Given the description of an element on the screen output the (x, y) to click on. 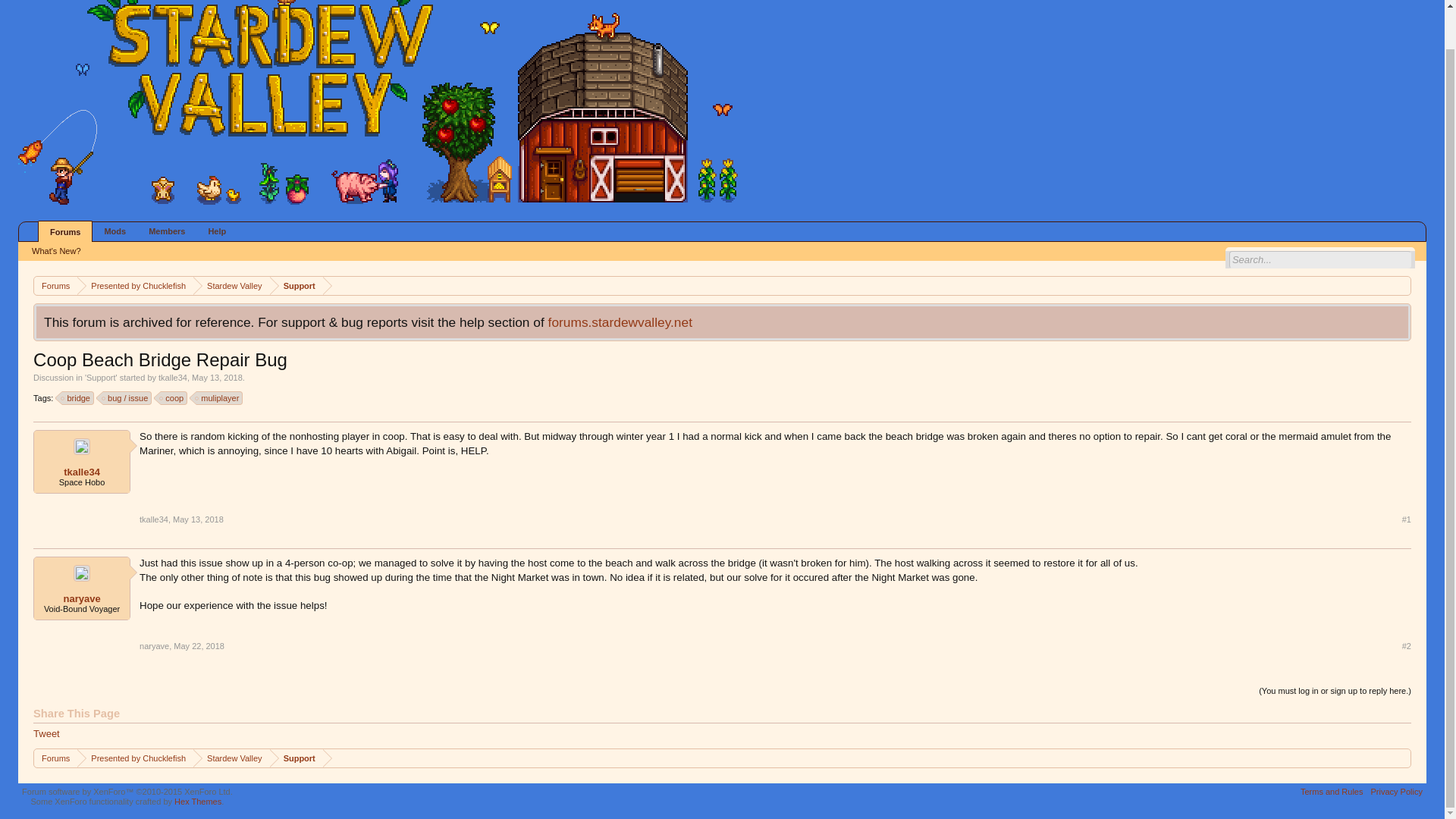
Presented by Chucklefish (135, 285)
Presented by Chucklefish (135, 758)
muliplayer (219, 397)
Stardew Valley (231, 758)
May 22, 2018 (198, 645)
Permalink (198, 519)
Forums (55, 285)
Permalink (198, 645)
Premium XenForo Add-ons (197, 800)
tkalle34 (172, 377)
forums.stardewvalley.net (620, 322)
Tweet (46, 733)
May 13, 2018 (217, 377)
Forums (65, 230)
Enter your search and hit enter (1319, 259)
